Given the description of an element on the screen output the (x, y) to click on. 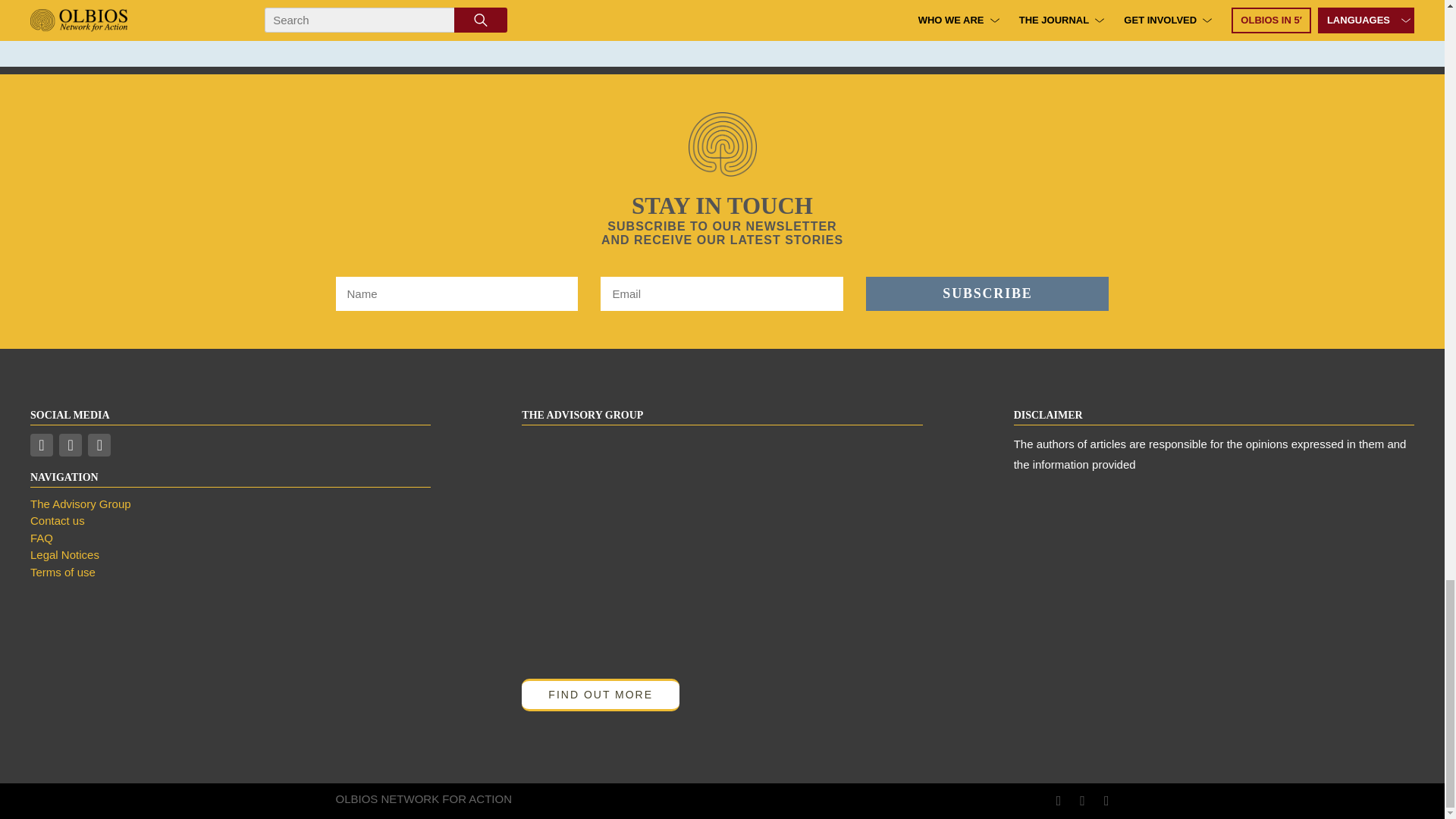
Subscribe (987, 293)
